Given the description of an element on the screen output the (x, y) to click on. 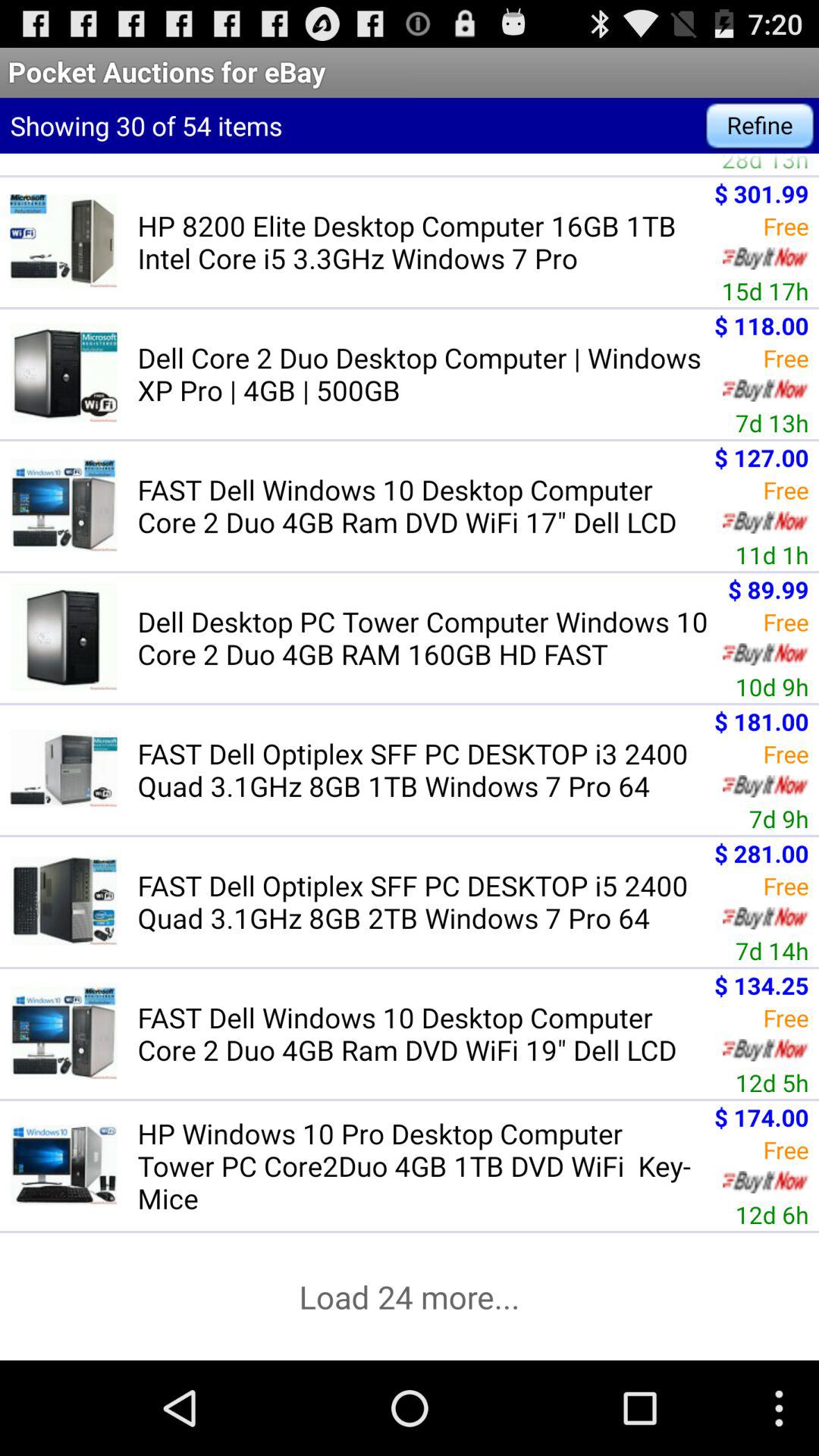
open the 15d 17h icon (764, 290)
